Given the description of an element on the screen output the (x, y) to click on. 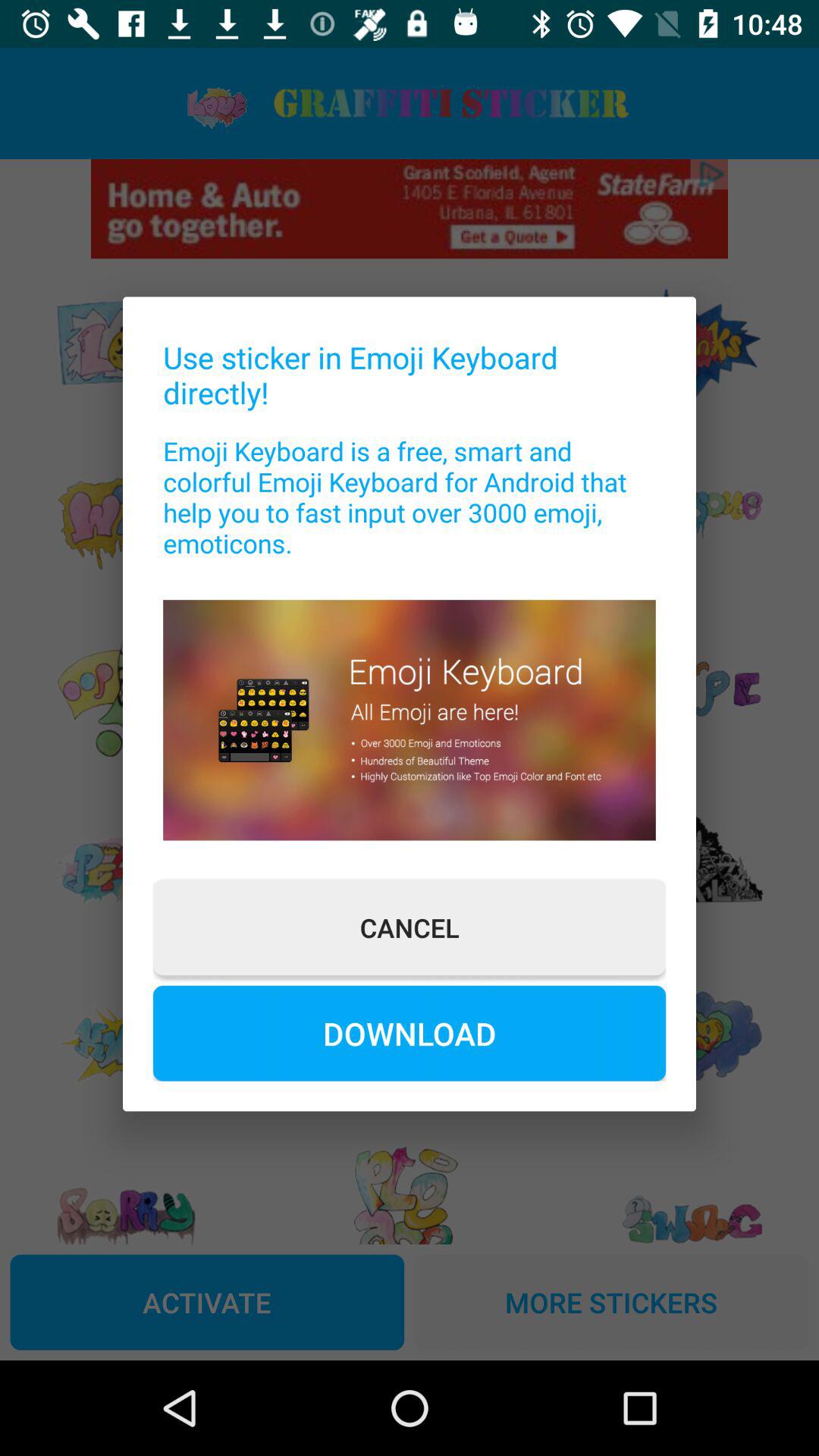
launch button above download button (409, 927)
